Given the description of an element on the screen output the (x, y) to click on. 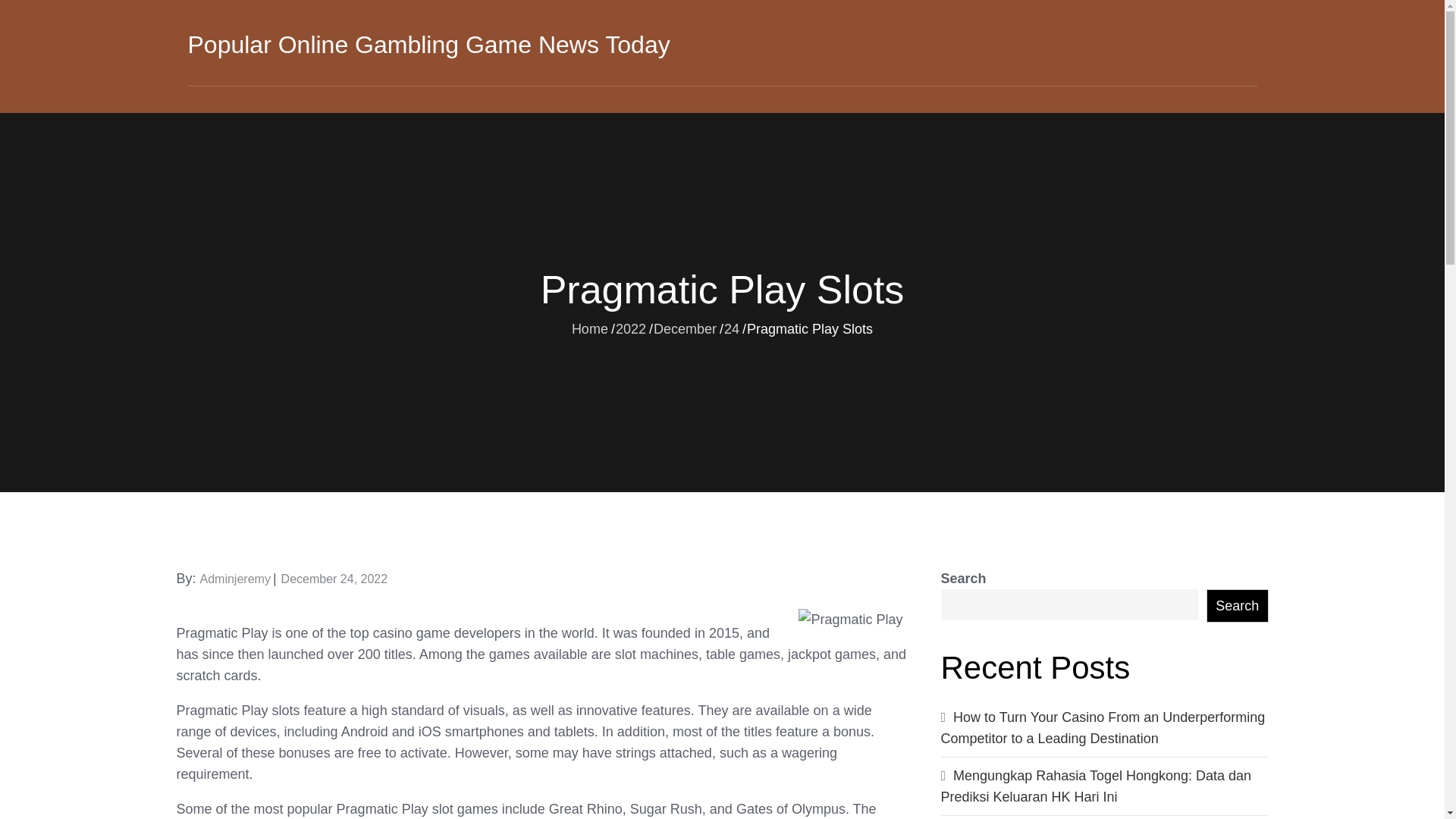
24 (731, 328)
Adminjeremy (235, 578)
December (684, 328)
Search (1237, 605)
Popular Online Gambling Game News Today (428, 44)
2022 (630, 328)
Home (590, 328)
December 24, 2022 (334, 578)
